Given the description of an element on the screen output the (x, y) to click on. 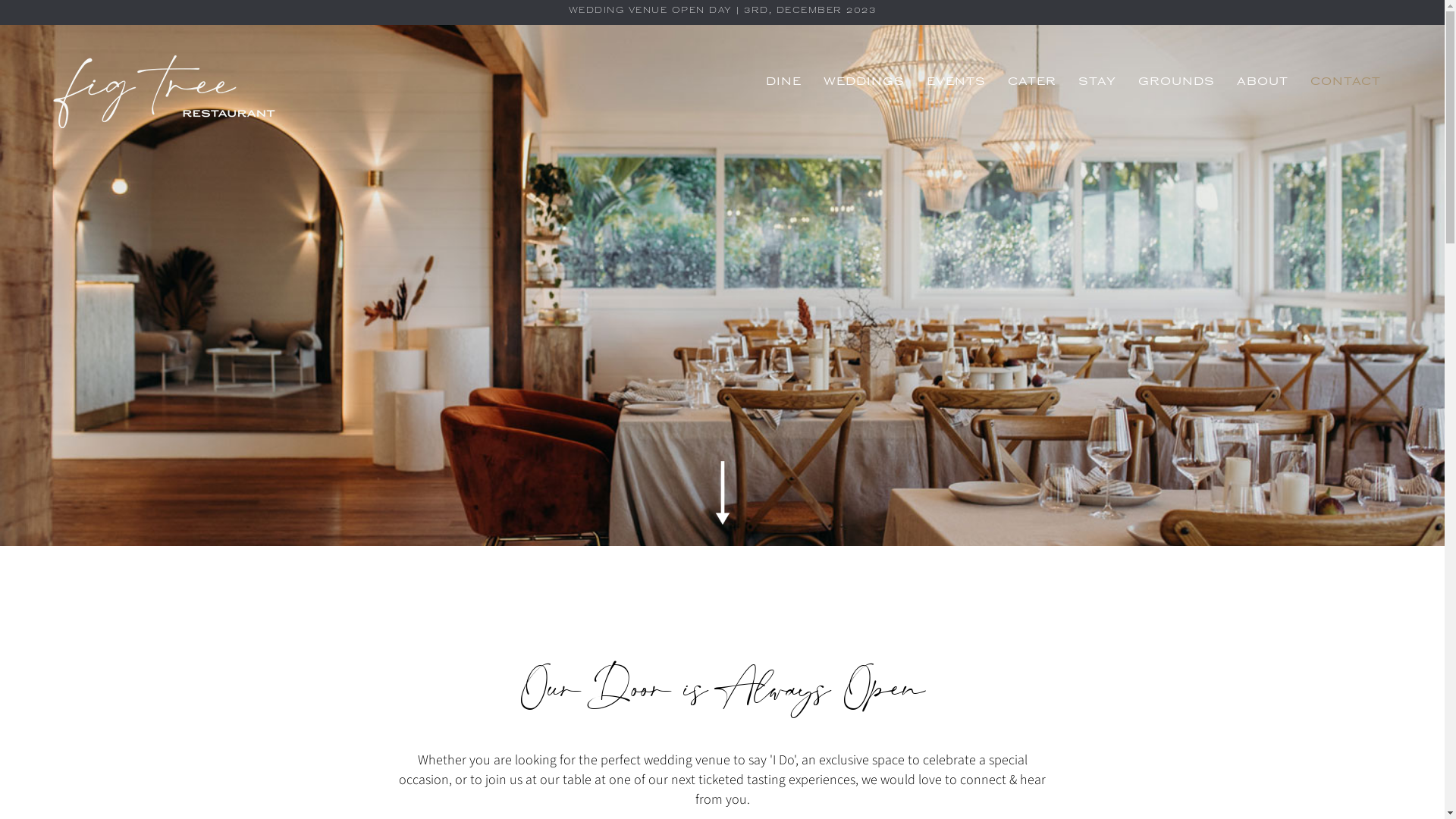
logo Element type: hover (164, 90)
Arrow-option-01 Element type: hover (721, 492)
STAY Element type: text (1096, 83)
CATER Element type: text (1031, 83)
CONTACT Element type: text (1345, 83)
Submit Element type: text (596, 550)
DINE Element type: text (783, 83)
GROUNDS Element type: text (1176, 83)
WEDDING VENUE OPEN DAY | 3RD, DECEMBER 2023 Element type: text (722, 10)
EVENTS Element type: text (956, 83)
ABOUT Element type: text (1262, 83)
WEDDINGS Element type: text (863, 83)
